Given the description of an element on the screen output the (x, y) to click on. 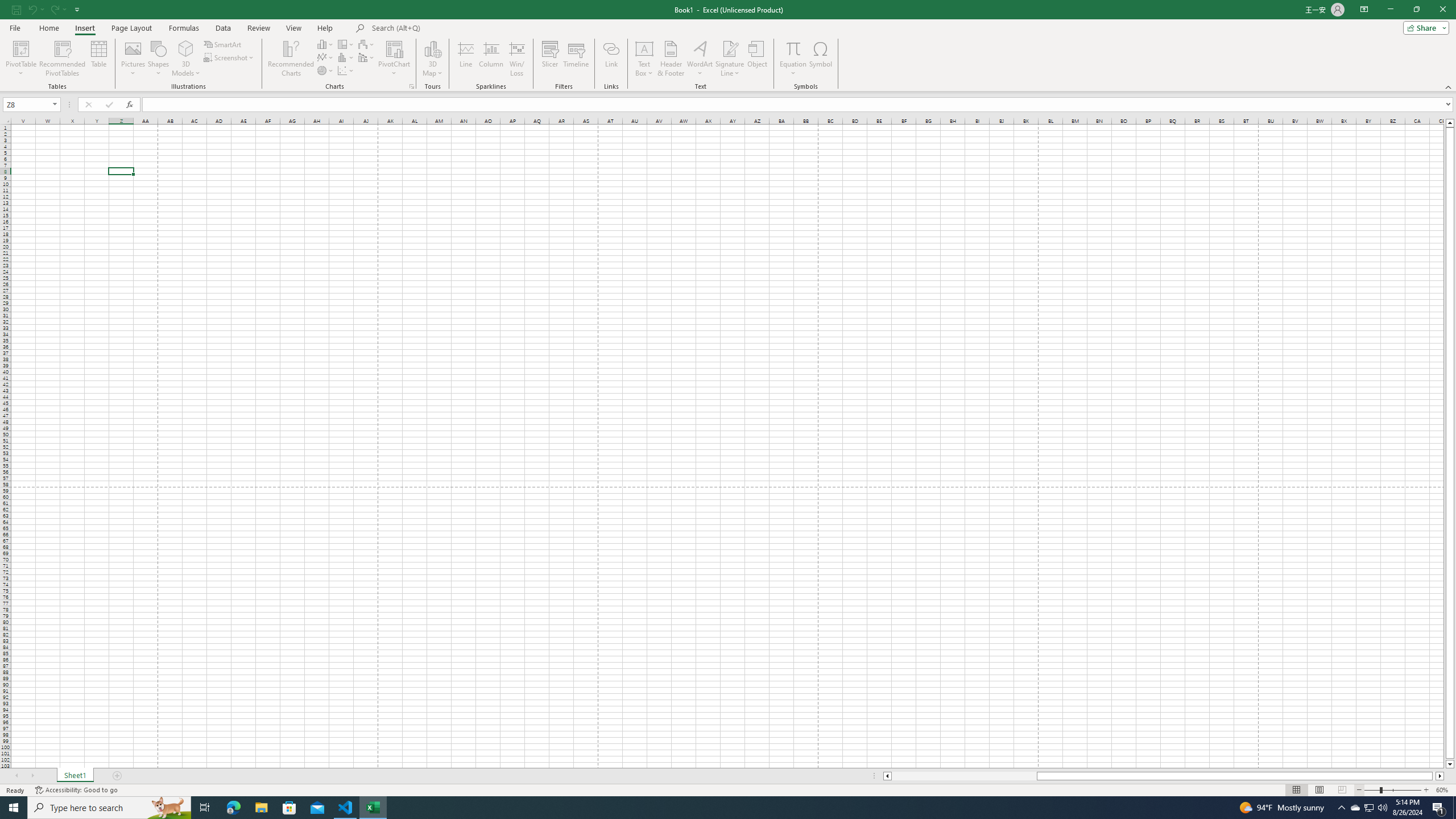
3D Map (432, 48)
Link (611, 58)
Header & Footer... (670, 58)
PivotTable (20, 58)
Equation (793, 48)
Column (491, 58)
3D Models (186, 48)
